Given the description of an element on the screen output the (x, y) to click on. 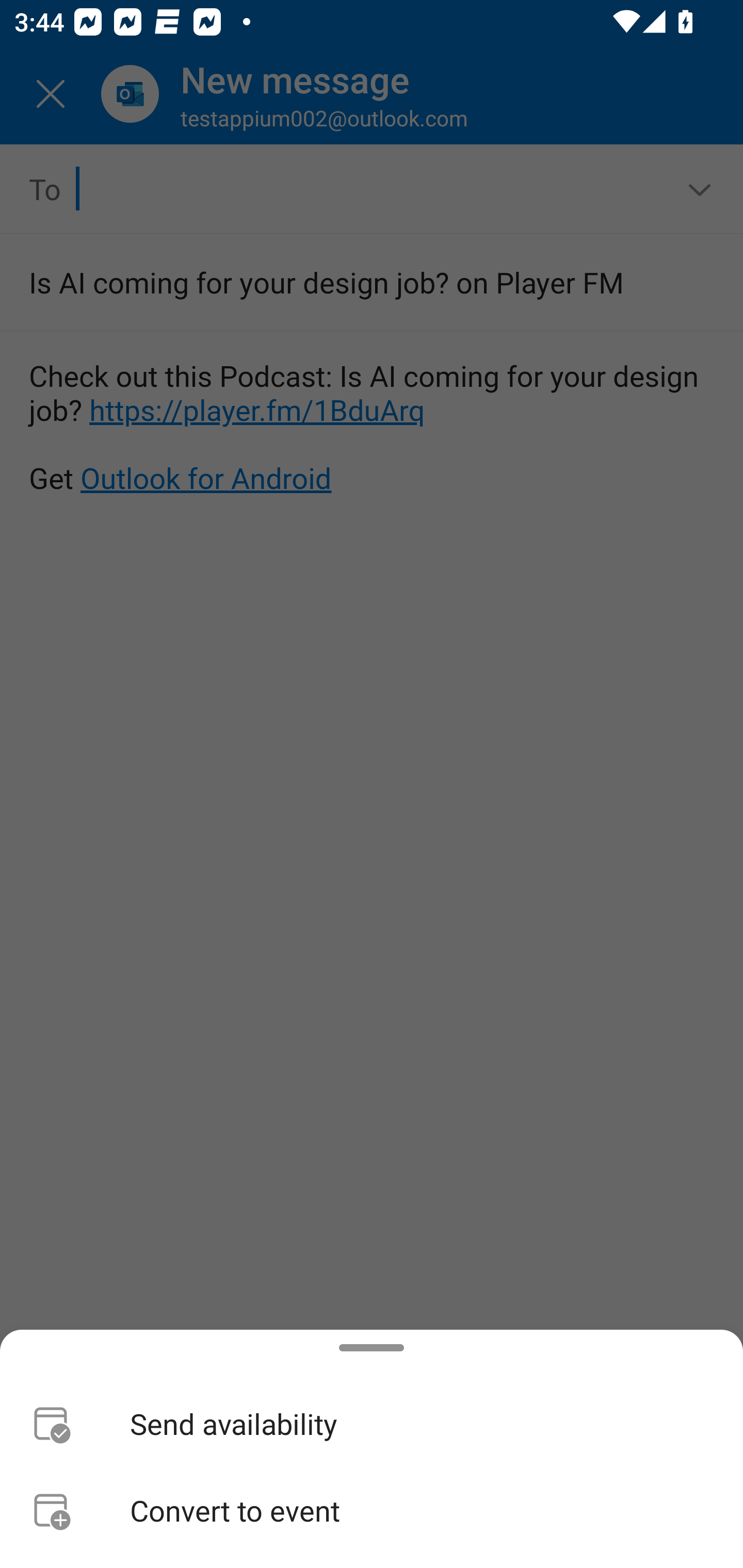
Send availability (371, 1423)
Convert to event (371, 1510)
